Given the description of an element on the screen output the (x, y) to click on. 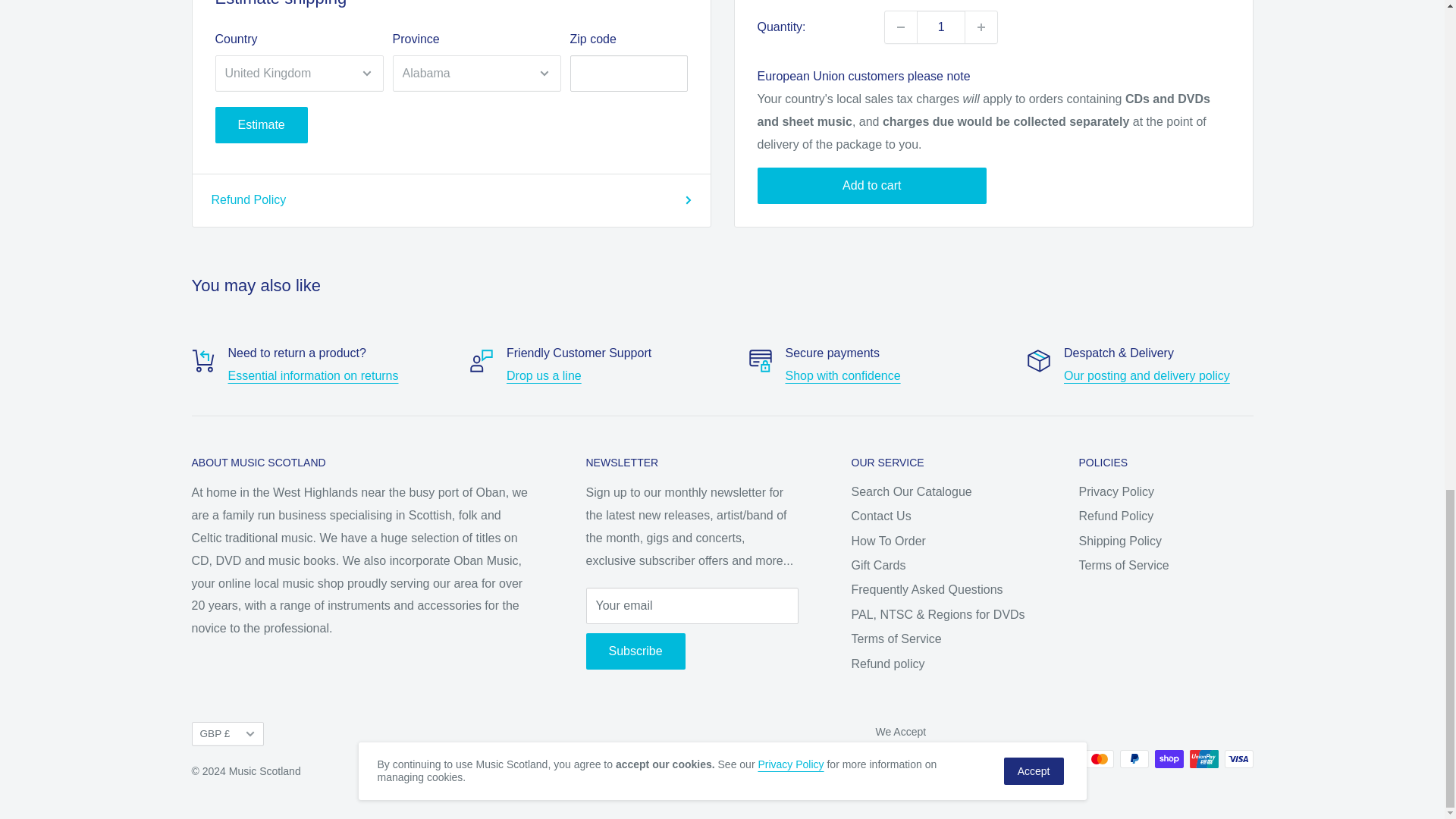
Shipping Policy (1147, 375)
Refund Policy (312, 375)
Privacy Policy (843, 375)
